Given the description of an element on the screen output the (x, y) to click on. 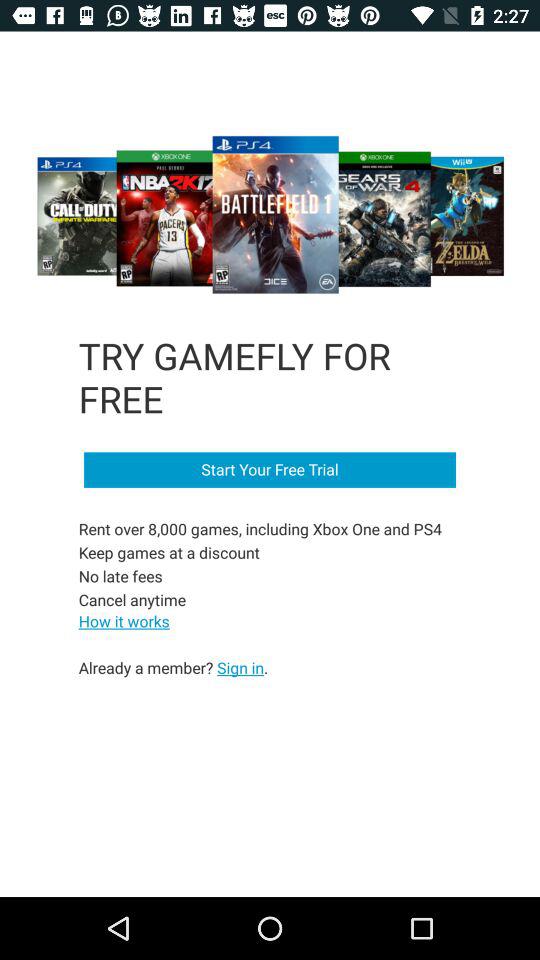
open the icon above already a member (123, 620)
